Given the description of an element on the screen output the (x, y) to click on. 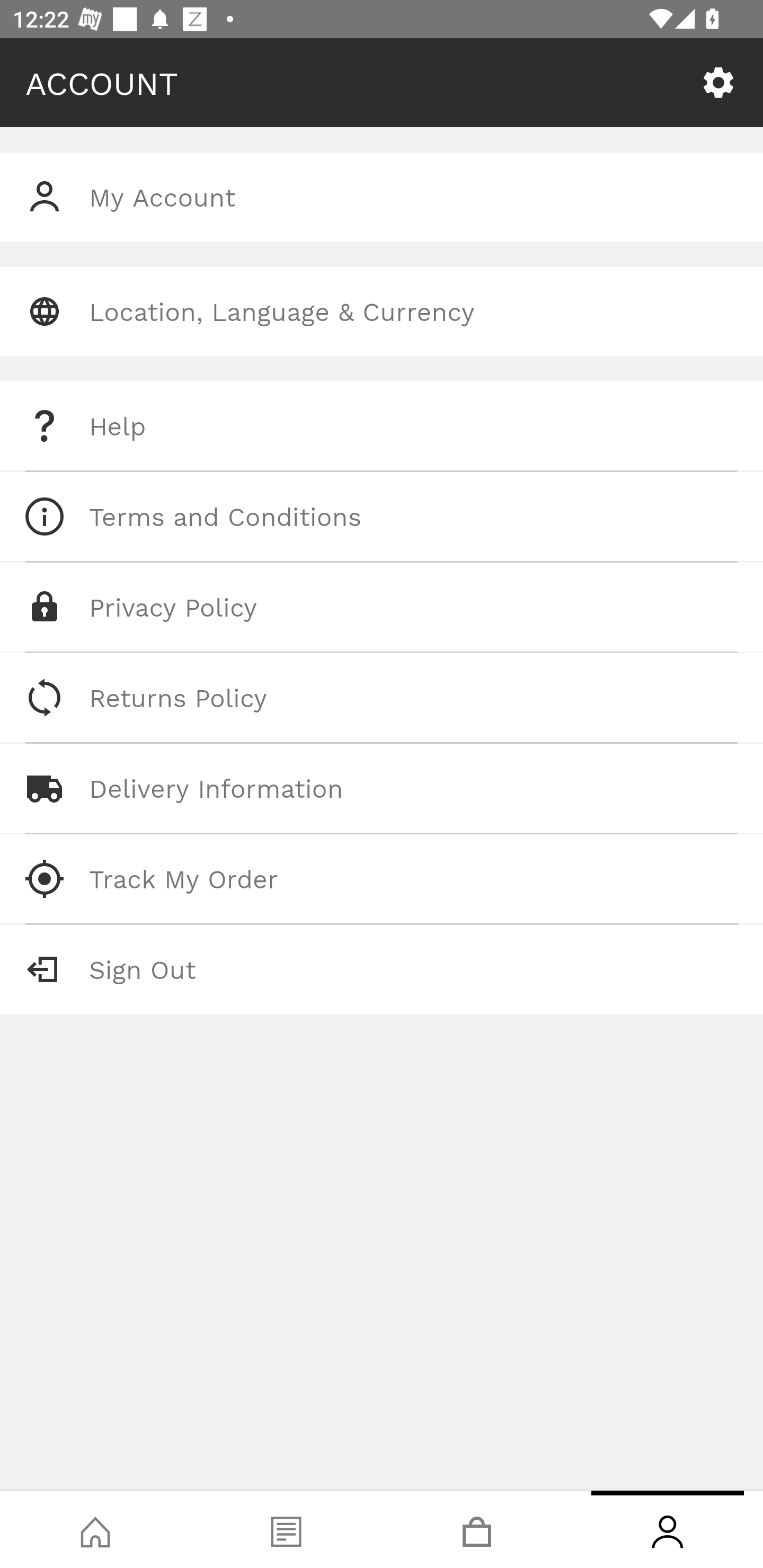
SETTINGS (718, 82)
My Account (381, 196)
Location, Language & Currency (381, 310)
Help (381, 425)
Terms and Conditions (381, 516)
Privacy Policy (381, 607)
Returns Policy (381, 697)
Delivery Information (381, 787)
Track My Order (381, 878)
Sign Out (381, 969)
Shop, tab, 1 of 4 (95, 1529)
Blog, tab, 2 of 4 (285, 1529)
Basket, tab, 3 of 4 (476, 1529)
Account, tab, 4 of 4 (667, 1529)
